Given the description of an element on the screen output the (x, y) to click on. 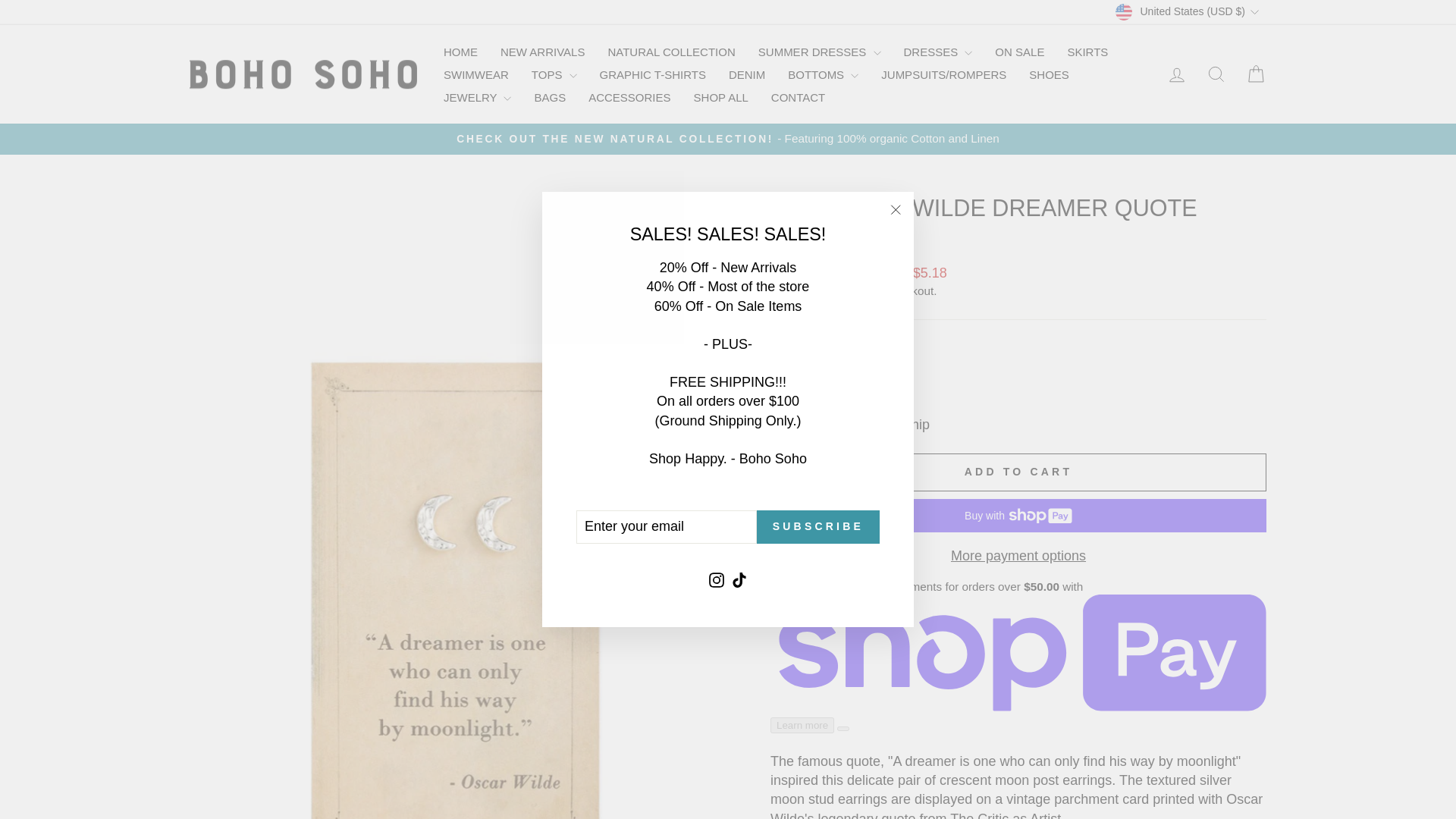
ICON-SEARCH (1216, 74)
icon-X (895, 209)
ACCOUNT (1177, 74)
